Given the description of an element on the screen output the (x, y) to click on. 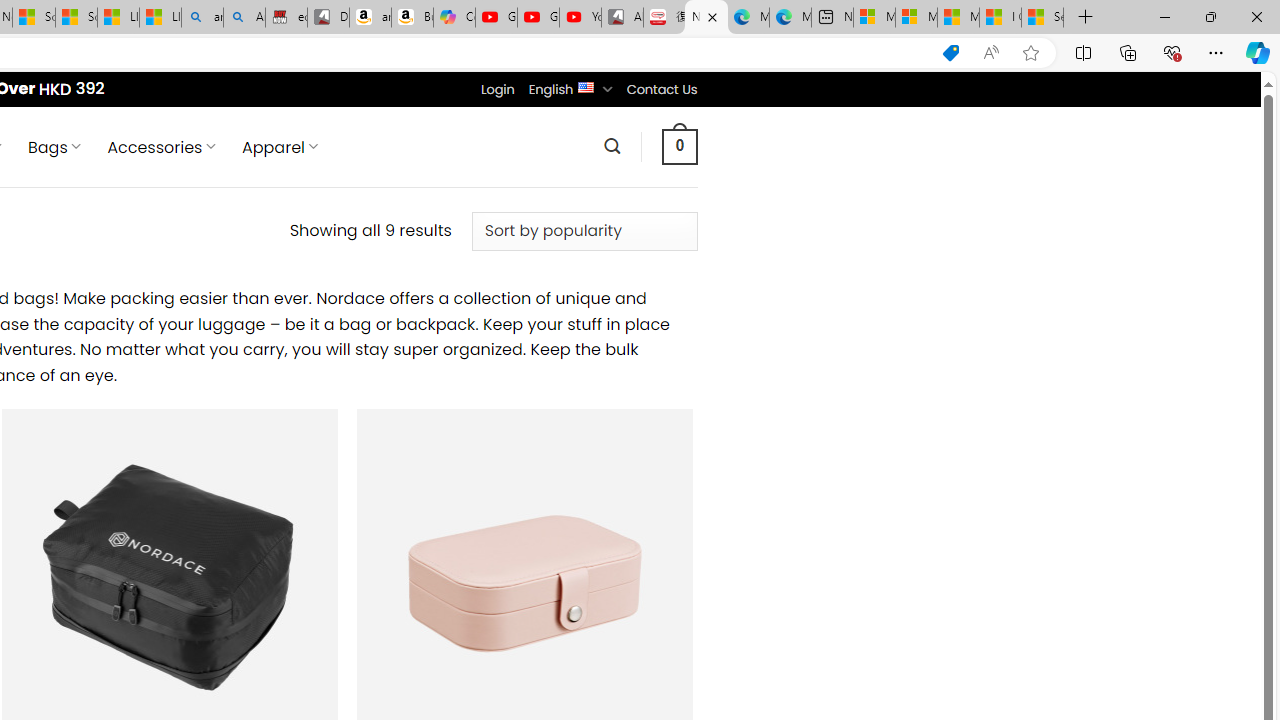
Search (612, 146)
Copilot (Ctrl+Shift+.) (1258, 52)
Amazon Echo Dot PNG - Search Images (244, 17)
Browser essentials (1171, 52)
Contact Us (661, 89)
Settings and more (Alt+F) (1215, 52)
Read aloud this page (Ctrl+Shift+U) (991, 53)
Collections (1128, 52)
Add this page to favorites (Ctrl+D) (1030, 53)
Close (1256, 16)
Login (497, 89)
I Gained 20 Pounds of Muscle in 30 Days! | Watch (1000, 17)
